Given the description of an element on the screen output the (x, y) to click on. 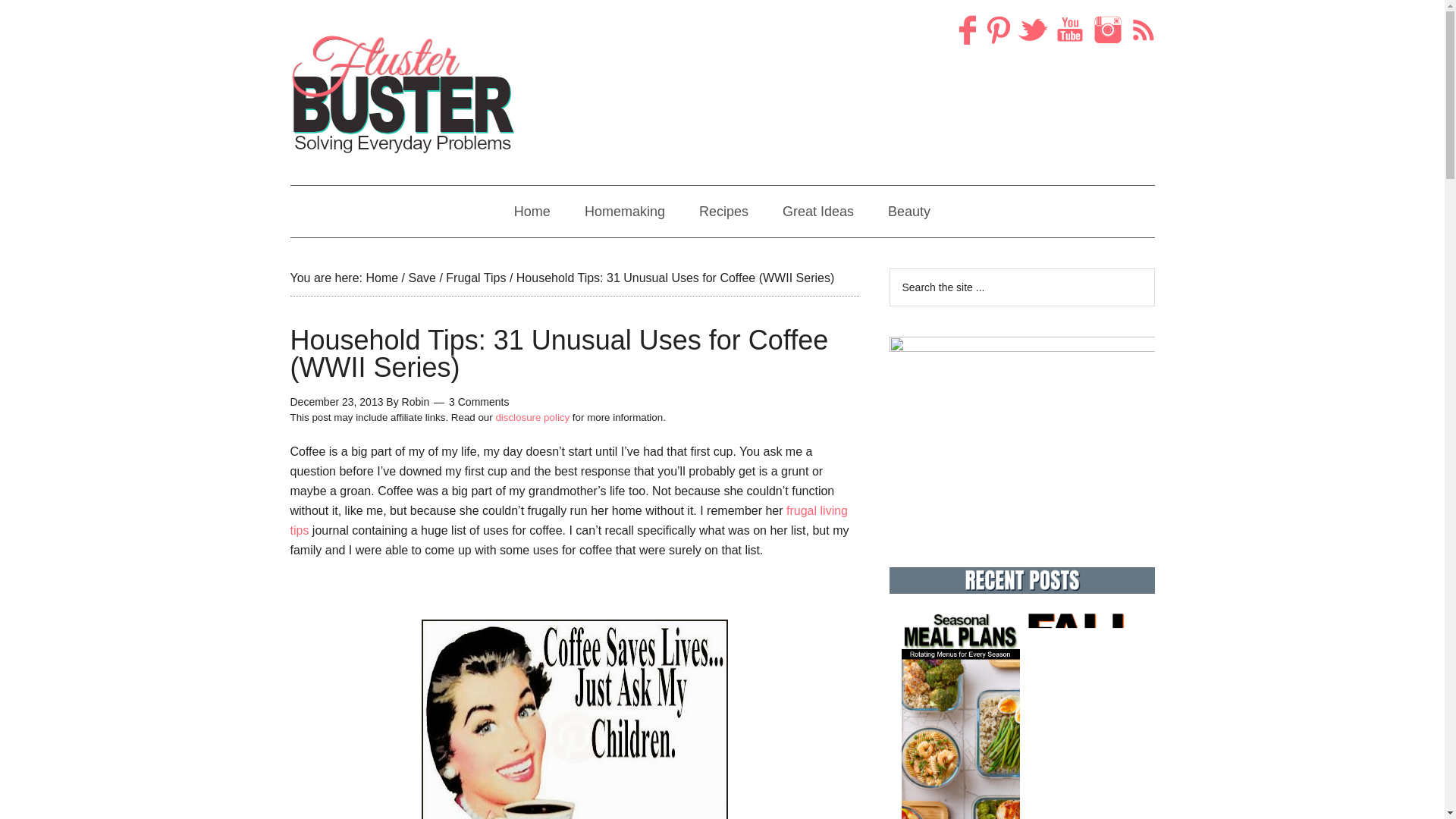
Great Ideas (818, 211)
Robin (415, 401)
Beauty (908, 211)
3 Comments (478, 401)
Homemaking (624, 211)
Fluster Buster (402, 93)
Home (532, 211)
Frugal Tips (475, 277)
Recipes (723, 211)
